Given the description of an element on the screen output the (x, y) to click on. 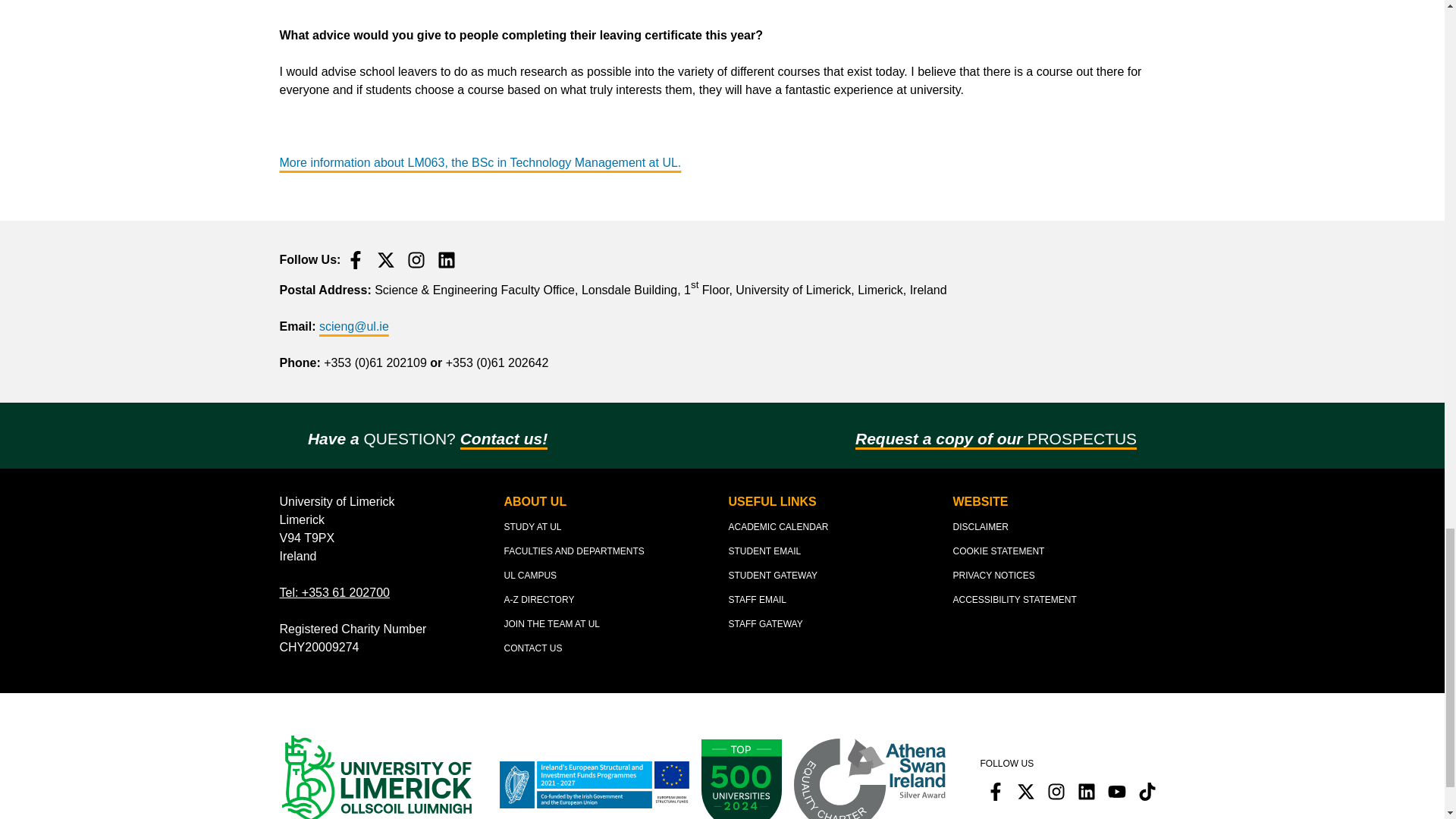
Accessibility statement (1013, 599)
